Given the description of an element on the screen output the (x, y) to click on. 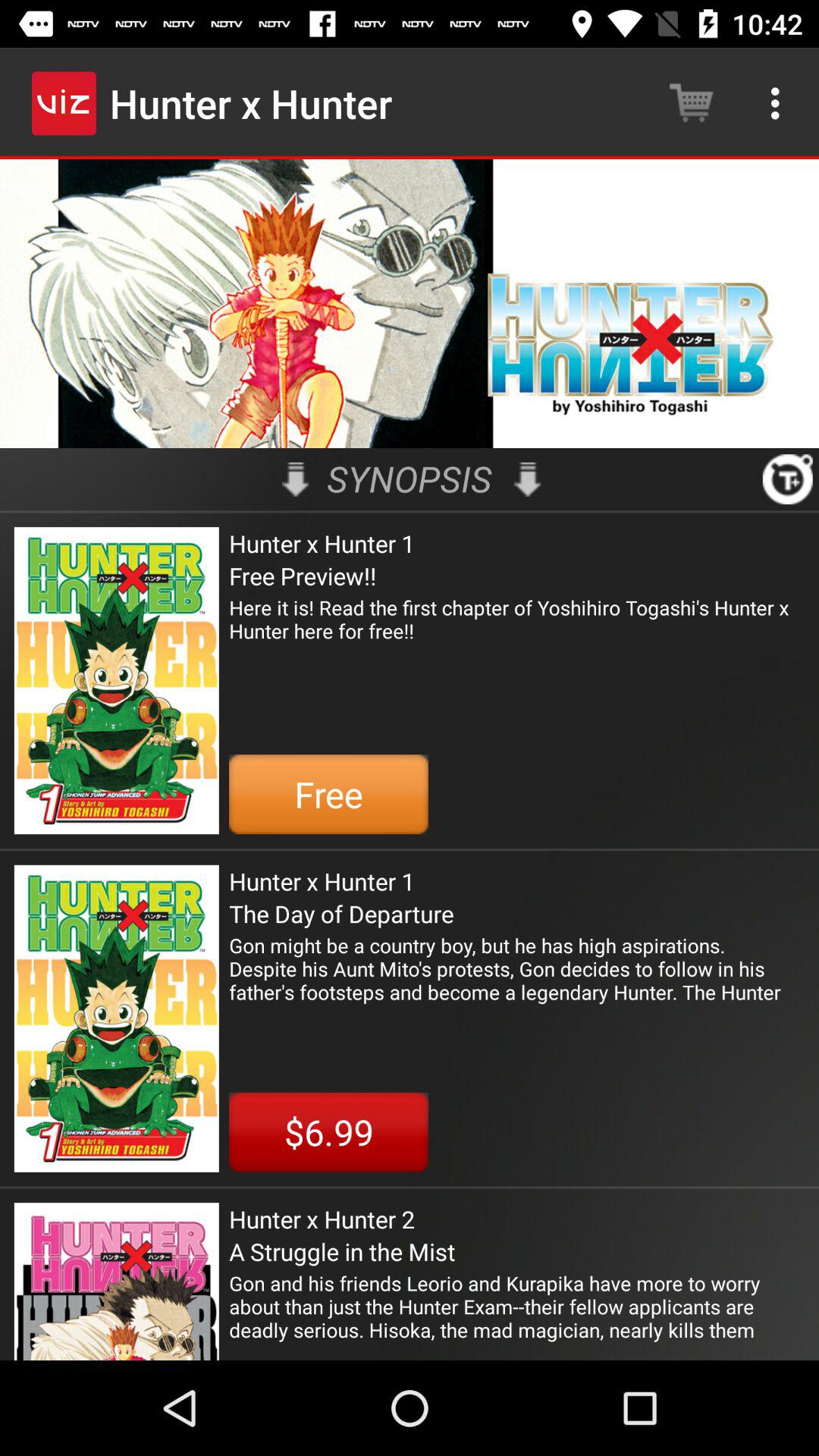
swipe to the synopsis icon (409, 478)
